Given the description of an element on the screen output the (x, y) to click on. 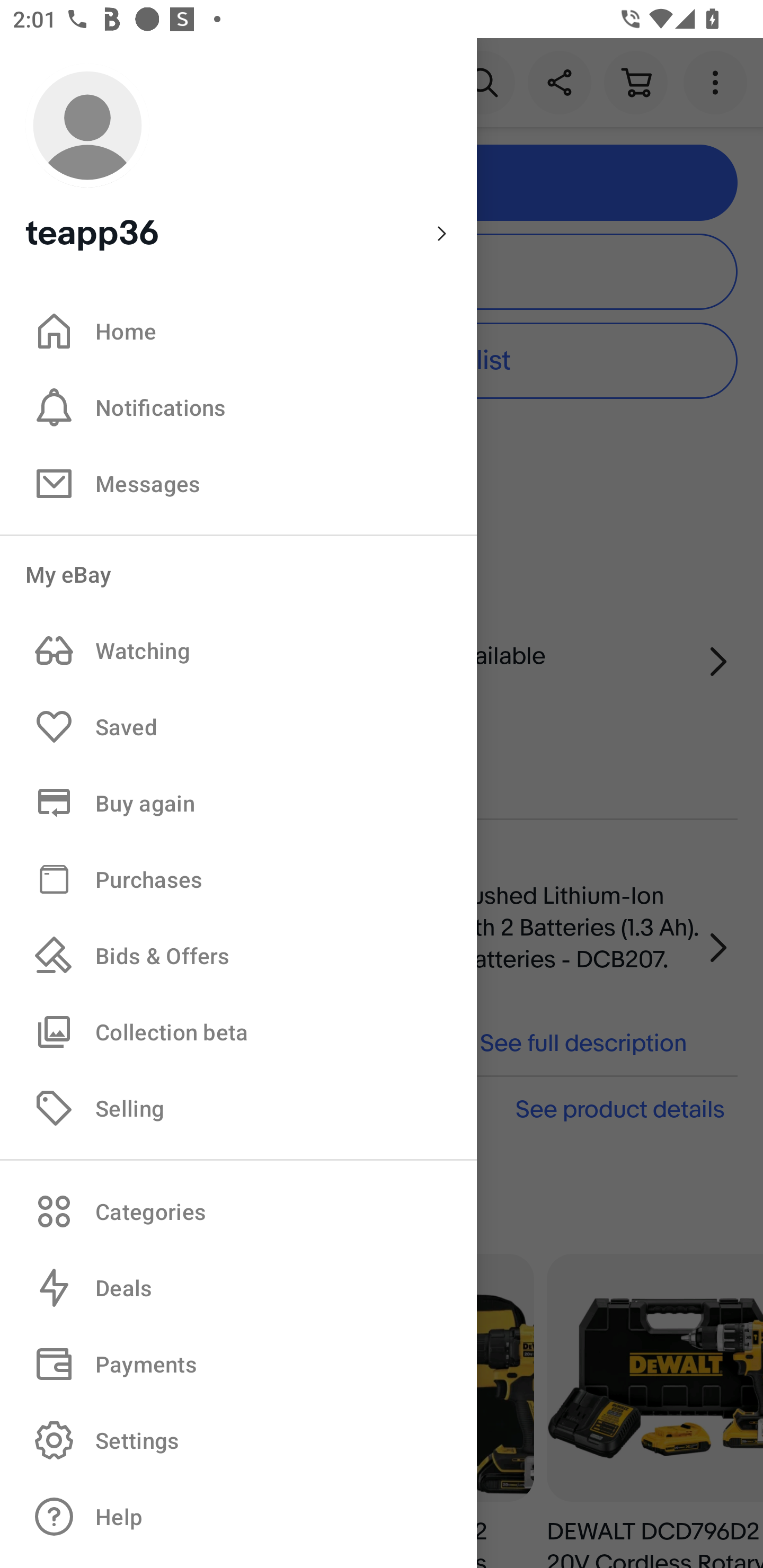
teapp36 (238, 158)
Home (238, 330)
Notifications (238, 406)
Messages (238, 483)
Watching (238, 650)
Saved (238, 726)
Buy again (238, 802)
Purchases (238, 878)
Bids & Offers (238, 955)
Collection beta (238, 1031)
Categories (238, 1210)
Deals (238, 1287)
Payments (238, 1363)
Settings (238, 1439)
Help (238, 1516)
